Given the description of an element on the screen output the (x, y) to click on. 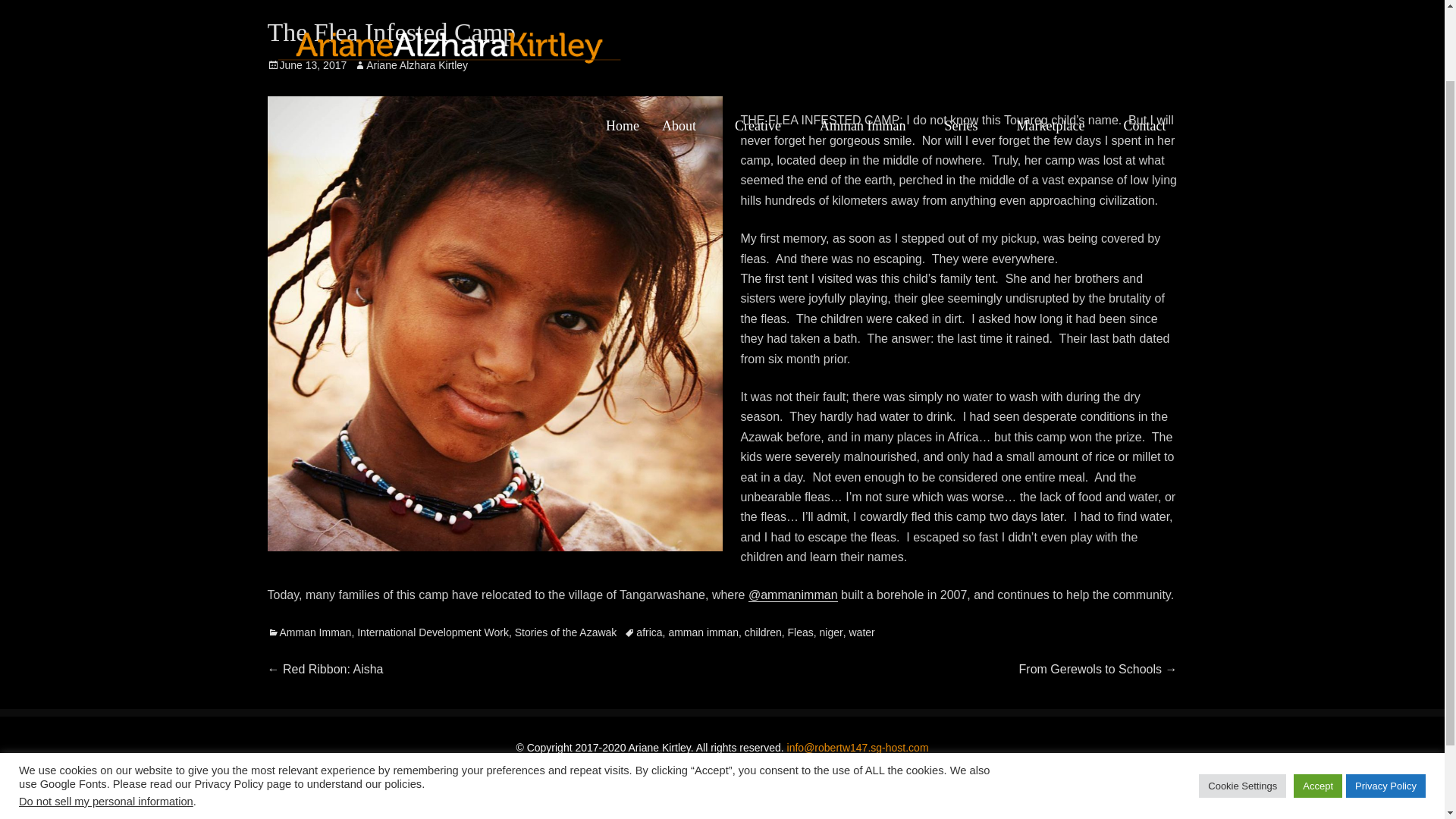
Home (622, 39)
About (686, 39)
Marketplace (1059, 39)
Series (969, 39)
Creative (765, 39)
Contact (1144, 39)
June 13, 2017 (306, 64)
Amman Imman (870, 39)
